Given the description of an element on the screen output the (x, y) to click on. 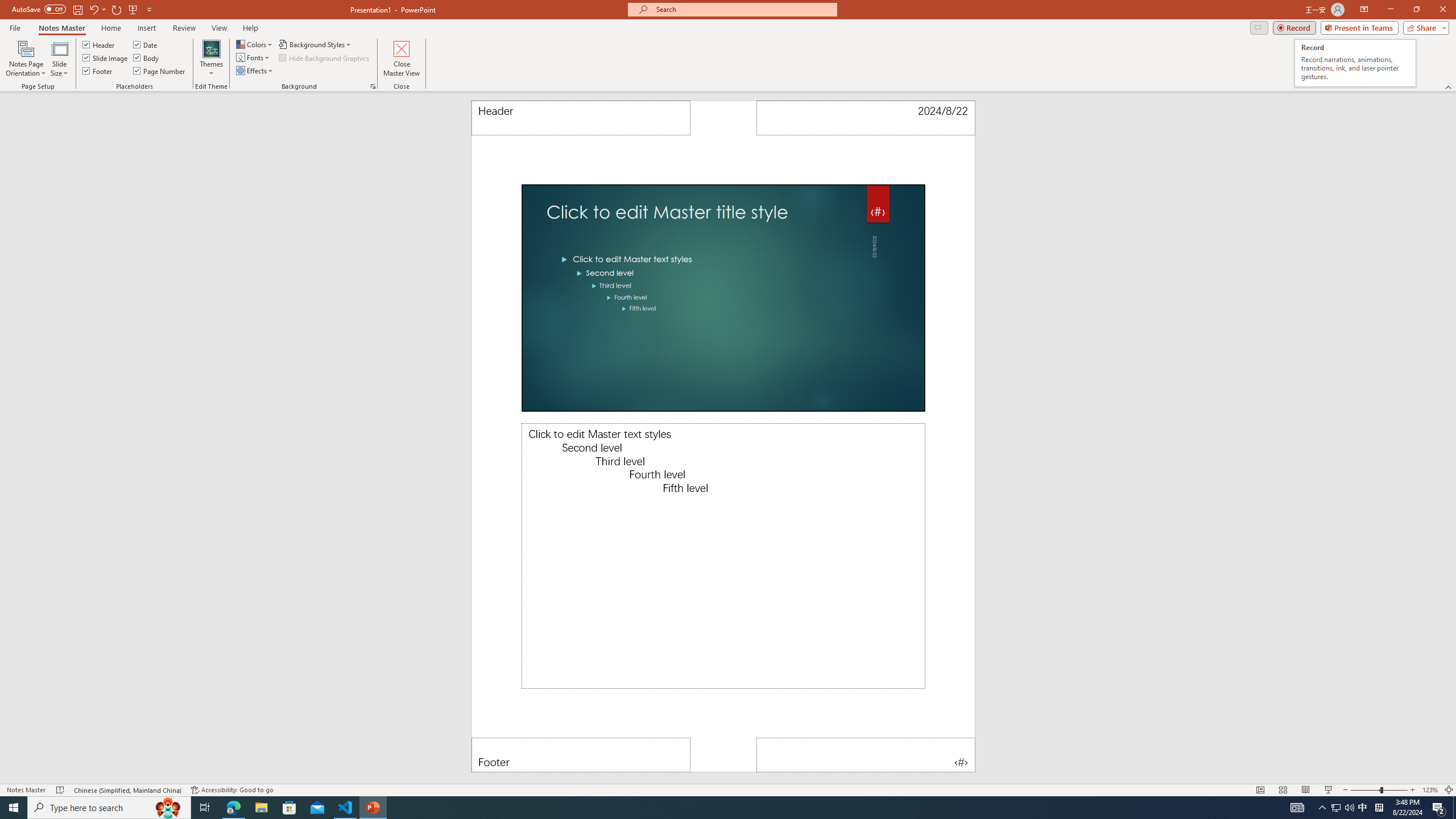
Close Master View (400, 58)
Notes Master (61, 28)
Fonts (253, 56)
Colors (255, 44)
Date (866, 117)
Notes Page Orientation (26, 58)
